Given the description of an element on the screen output the (x, y) to click on. 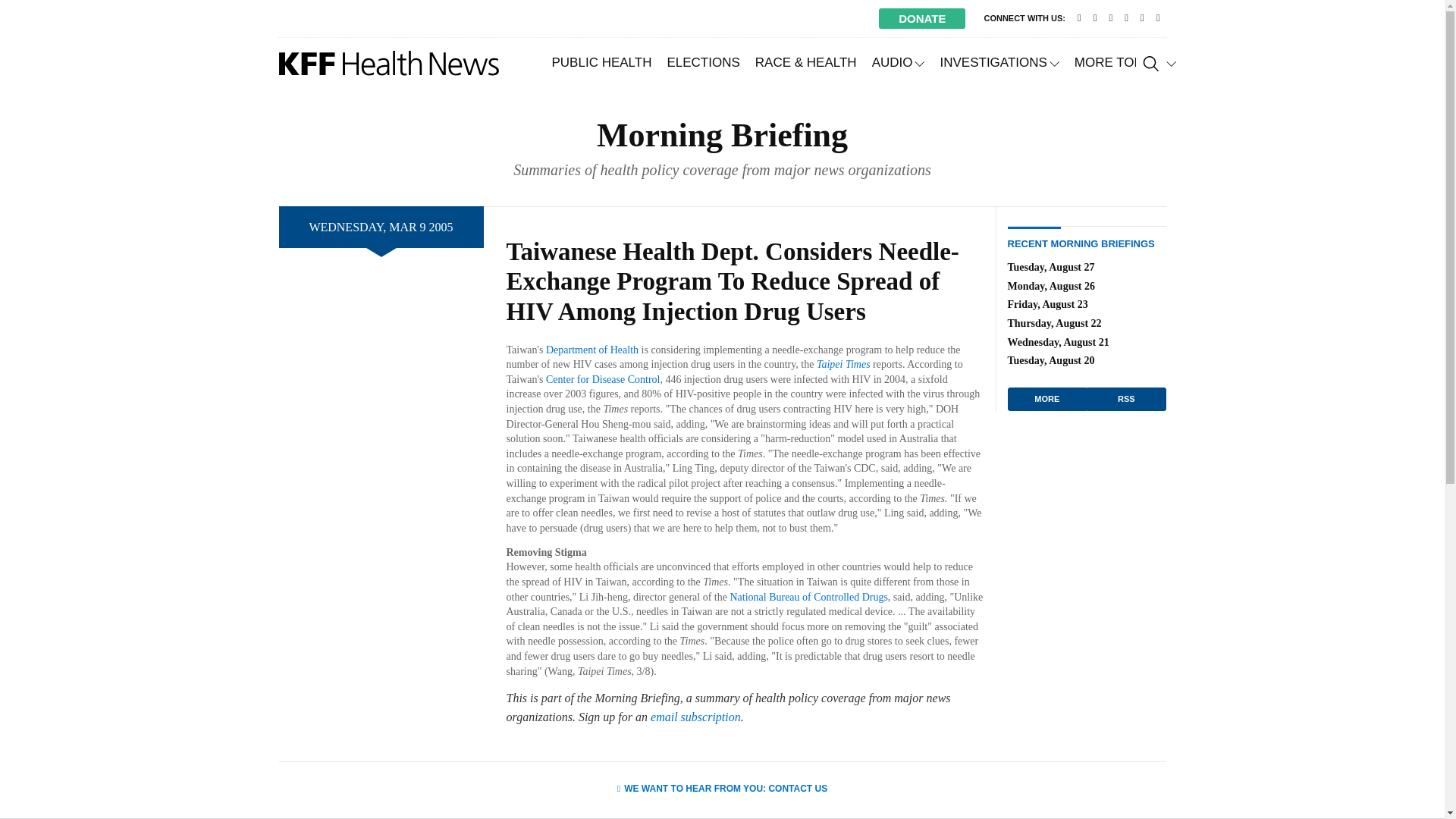
AUDIO (898, 61)
PUBLIC HEALTH (601, 61)
DONATE (922, 18)
ELECTIONS (702, 61)
MORE TOPICS (1125, 61)
KFF Health News (389, 63)
INVESTIGATIONS (998, 61)
